Given the description of an element on the screen output the (x, y) to click on. 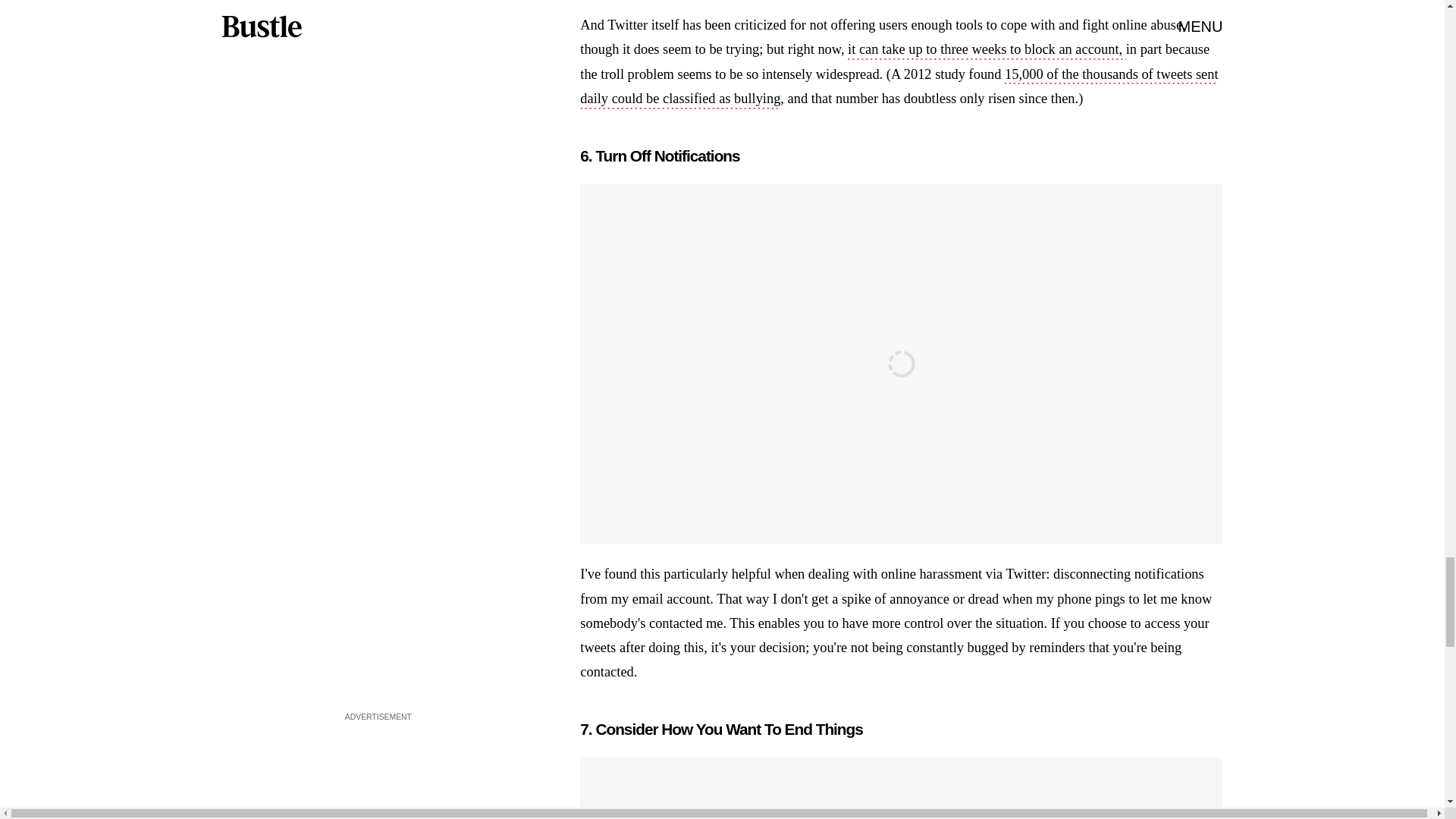
it can take up to three weeks to block an account, (986, 50)
